Given the description of an element on the screen output the (x, y) to click on. 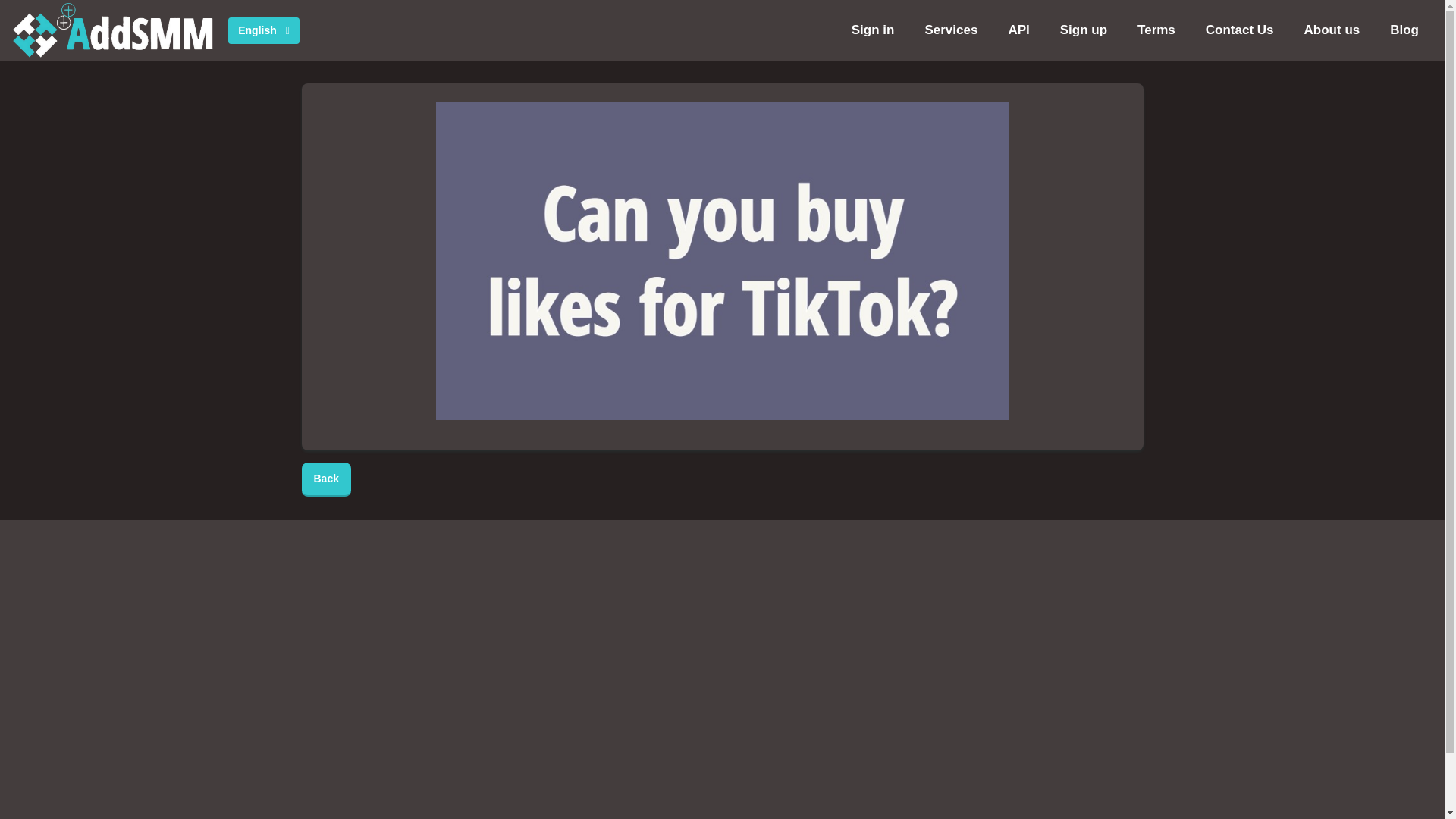
Sign in (872, 30)
AddSMM (114, 30)
Blog (1404, 30)
Services (950, 30)
Contact Us (1239, 30)
API (1017, 30)
Back (325, 479)
Terms (1156, 30)
Sign up (1083, 30)
About us (1331, 30)
